Given the description of an element on the screen output the (x, y) to click on. 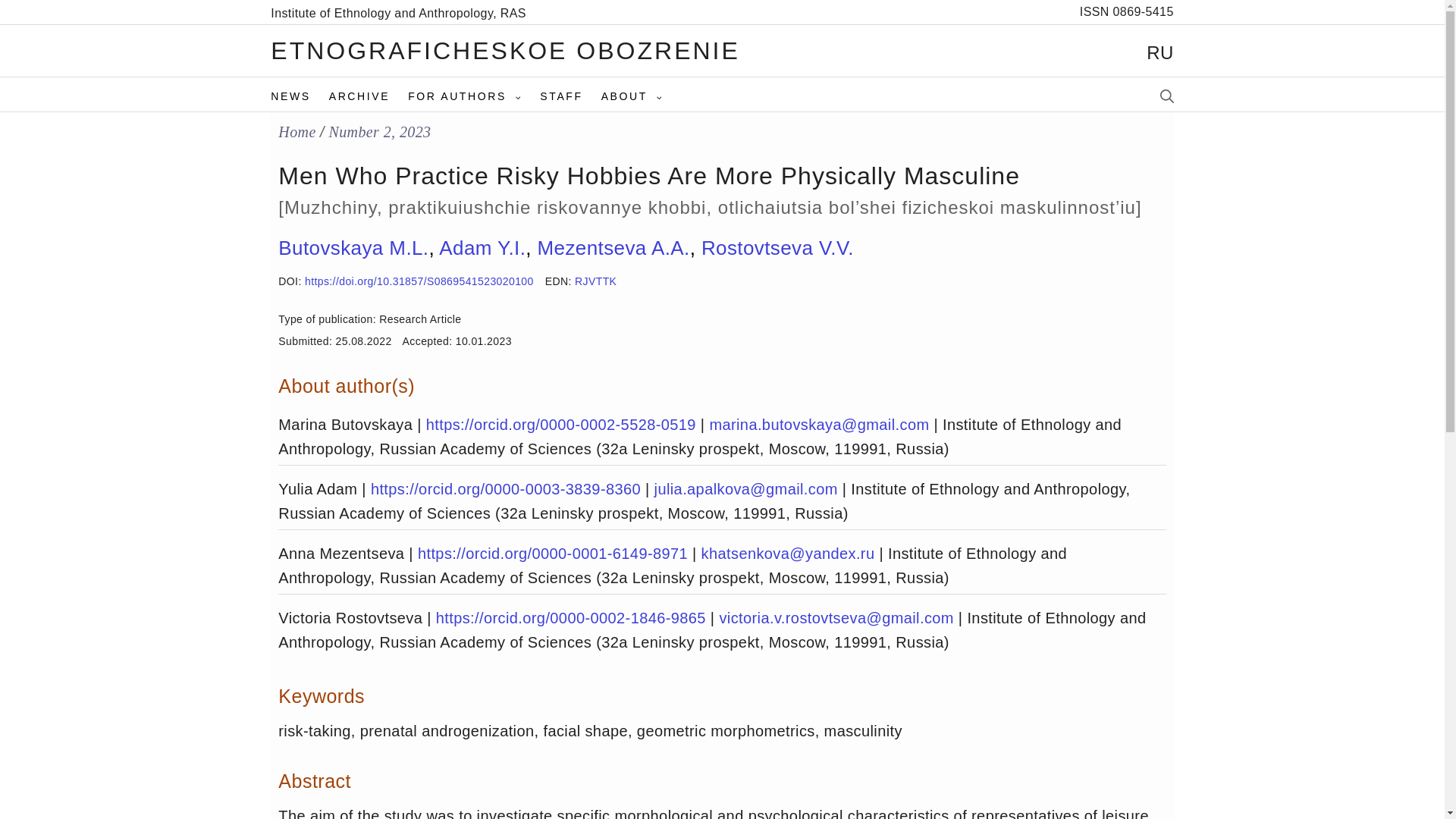
ETNOGRAFICHESKOE OBOZRENIE (504, 50)
ABOUT (641, 96)
Home (296, 131)
Rostovtseva V.V. (777, 247)
ARCHIVE (368, 96)
Page 20 (722, 730)
Adam Y.I. (482, 247)
FOR AUTHORS (473, 96)
STAFF (569, 96)
Mezentseva A.A. (613, 247)
